Given the description of an element on the screen output the (x, y) to click on. 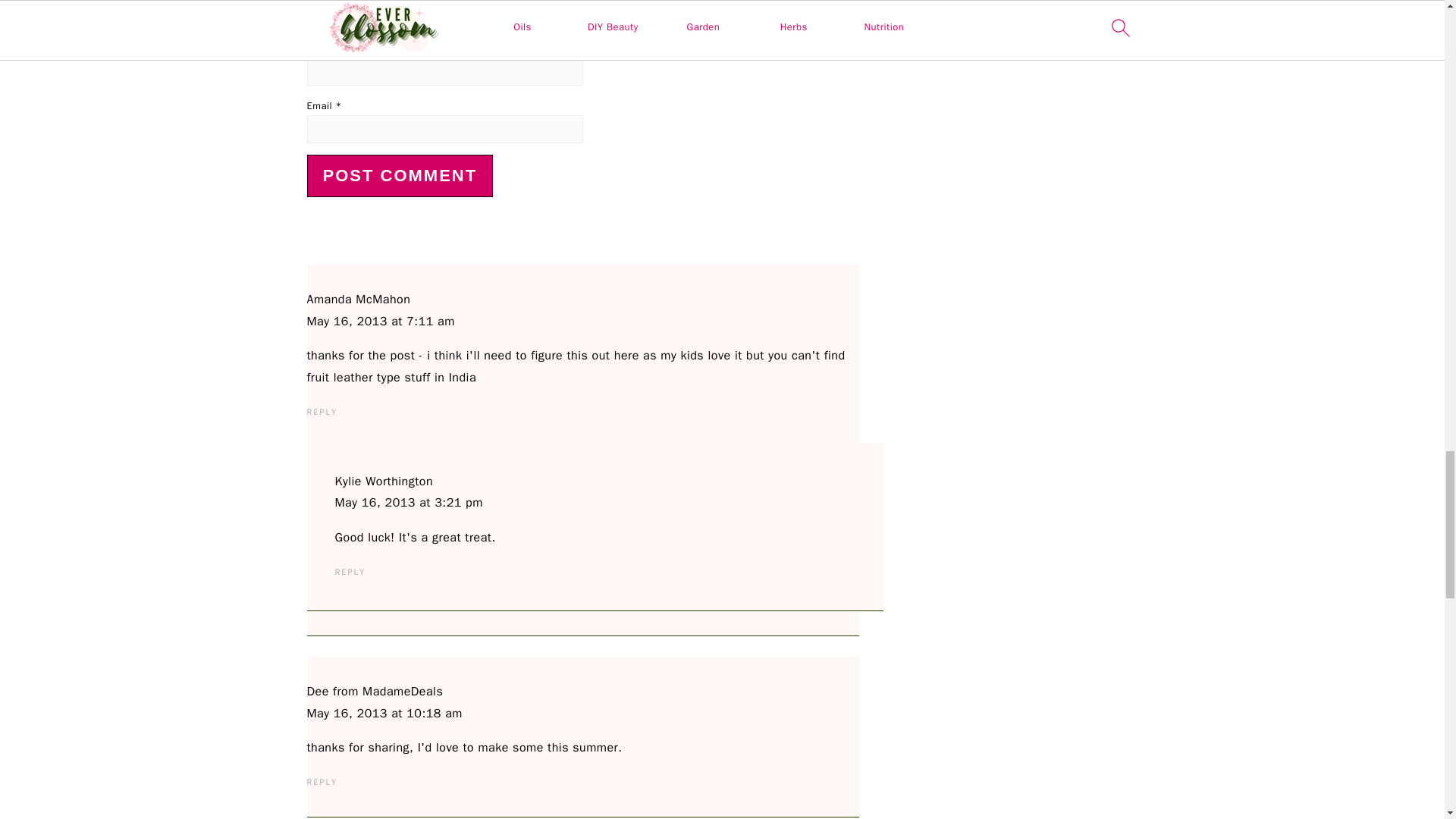
Post Comment (399, 175)
